Given the description of an element on the screen output the (x, y) to click on. 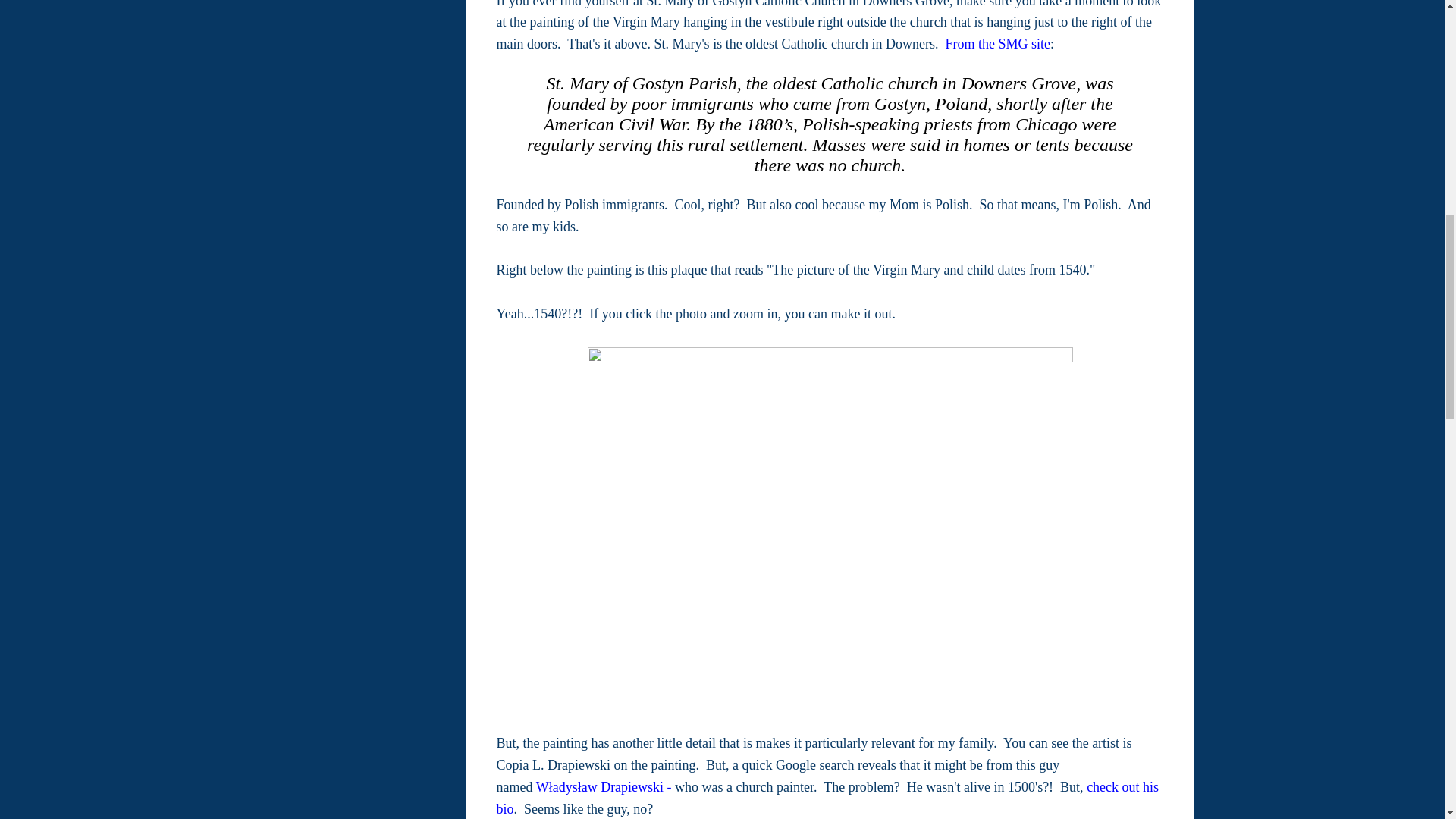
From the SMG site (997, 43)
check out his bio (827, 797)
